Given the description of an element on the screen output the (x, y) to click on. 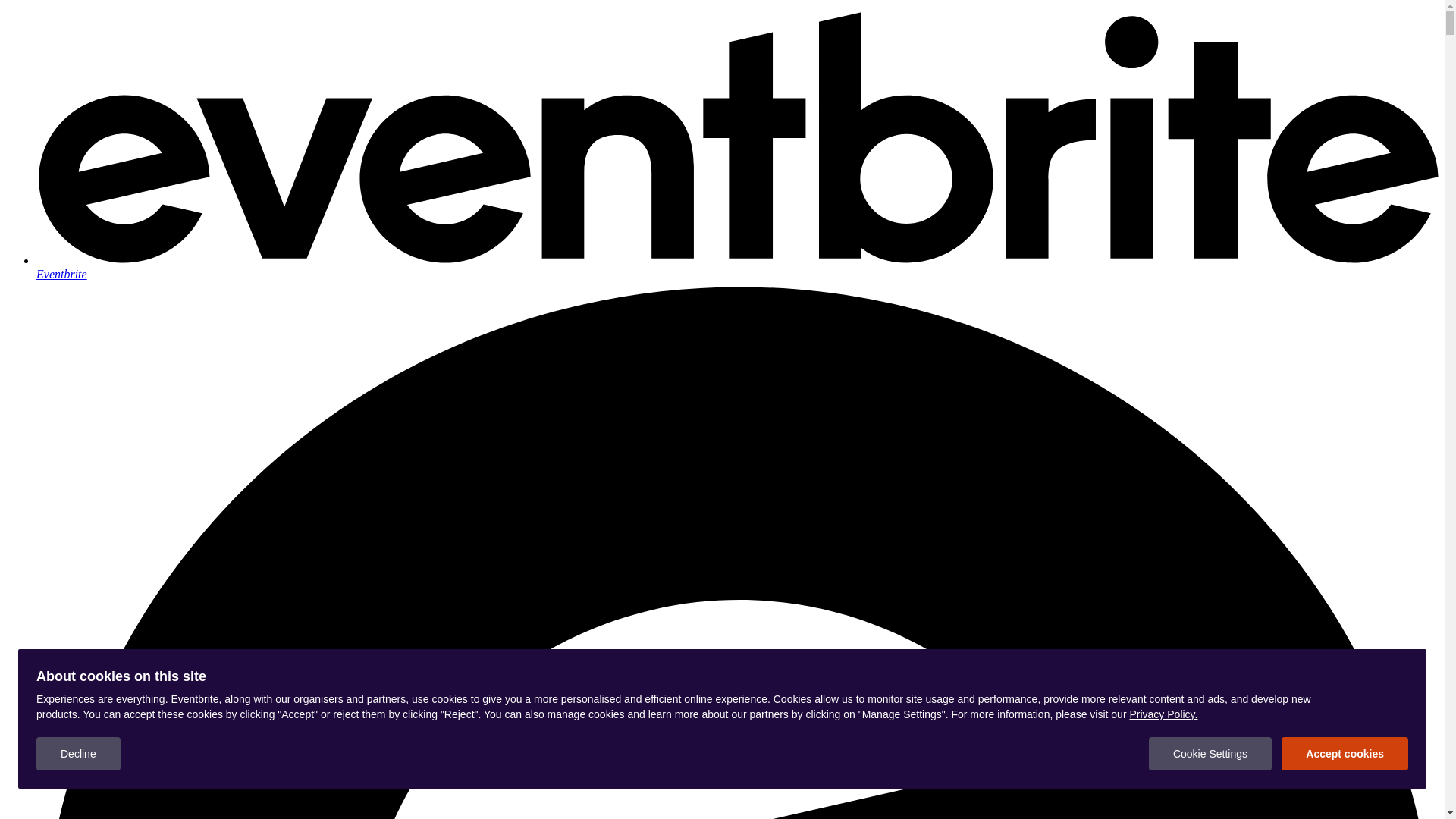
Accept cookies Element type: text (1344, 753)
Eventbrite Element type: text (737, 267)
Decline Element type: text (78, 753)
Cookie Settings Element type: text (1209, 753)
Privacy Policy. Element type: text (1163, 714)
